Given the description of an element on the screen output the (x, y) to click on. 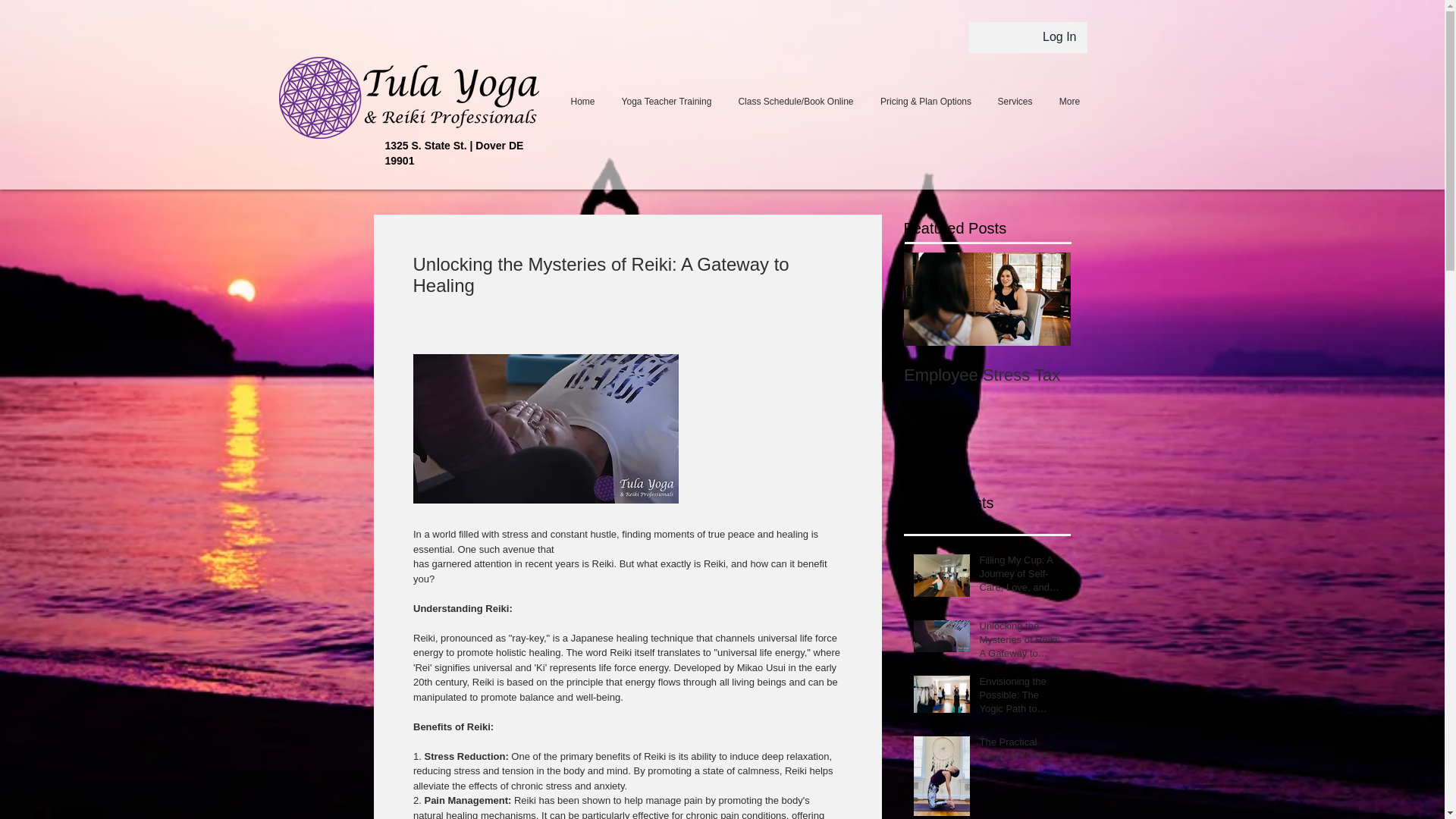
Log In (1043, 36)
Filling My Cup: A Journey of Self-Care, Love, and Laughter (1020, 577)
Today I Choose To Be The Light (1153, 384)
Unlocking the Mysteries of Reiki: A Gateway to Healing (1020, 643)
Yoga Teacher Training (665, 101)
Employee Stress Tax (987, 374)
Services (1014, 101)
Home (582, 101)
The Practical Magic of YOGA (1020, 752)
